Given the description of an element on the screen output the (x, y) to click on. 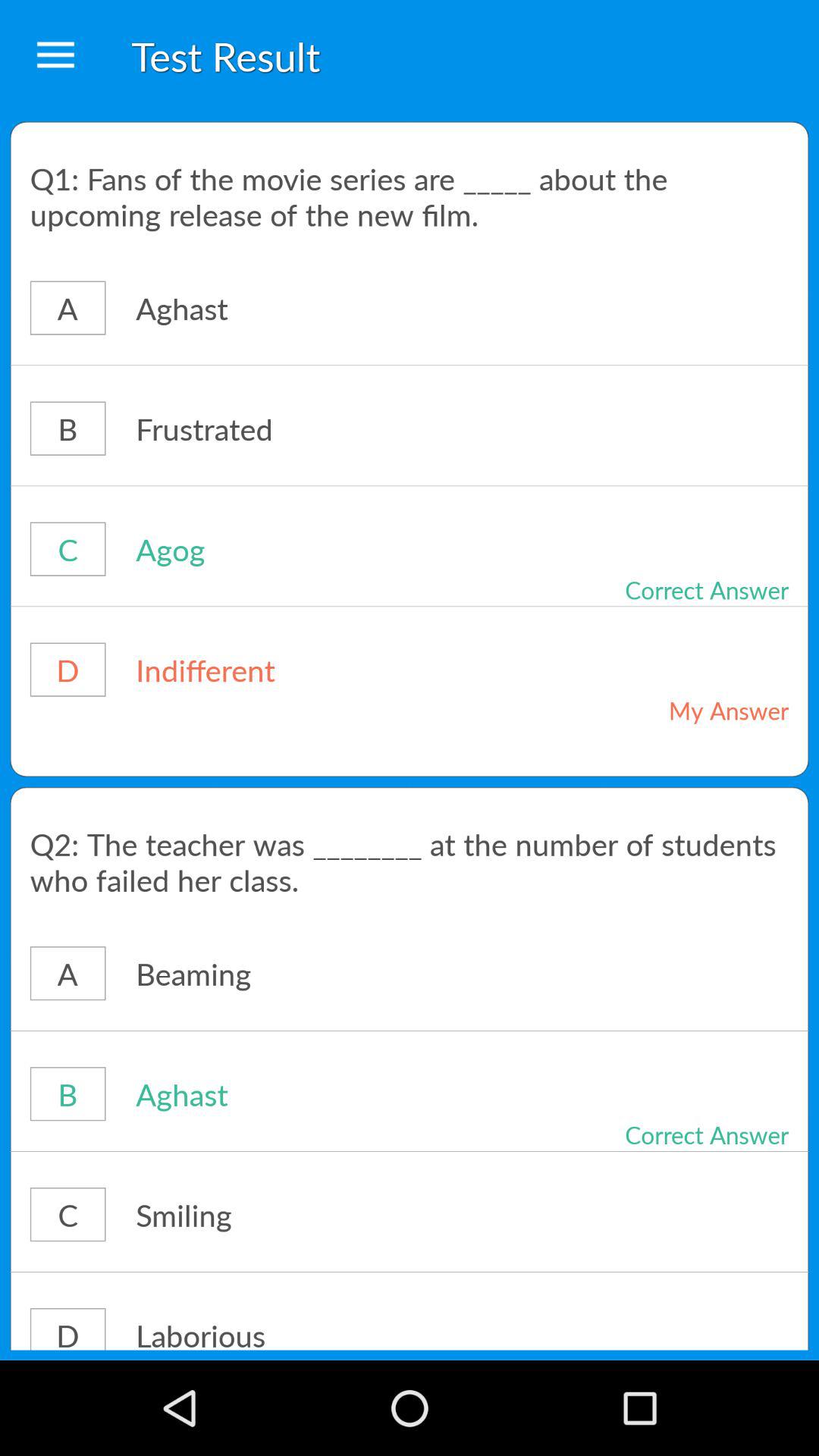
tap the item above a item (409, 861)
